Given the description of an element on the screen output the (x, y) to click on. 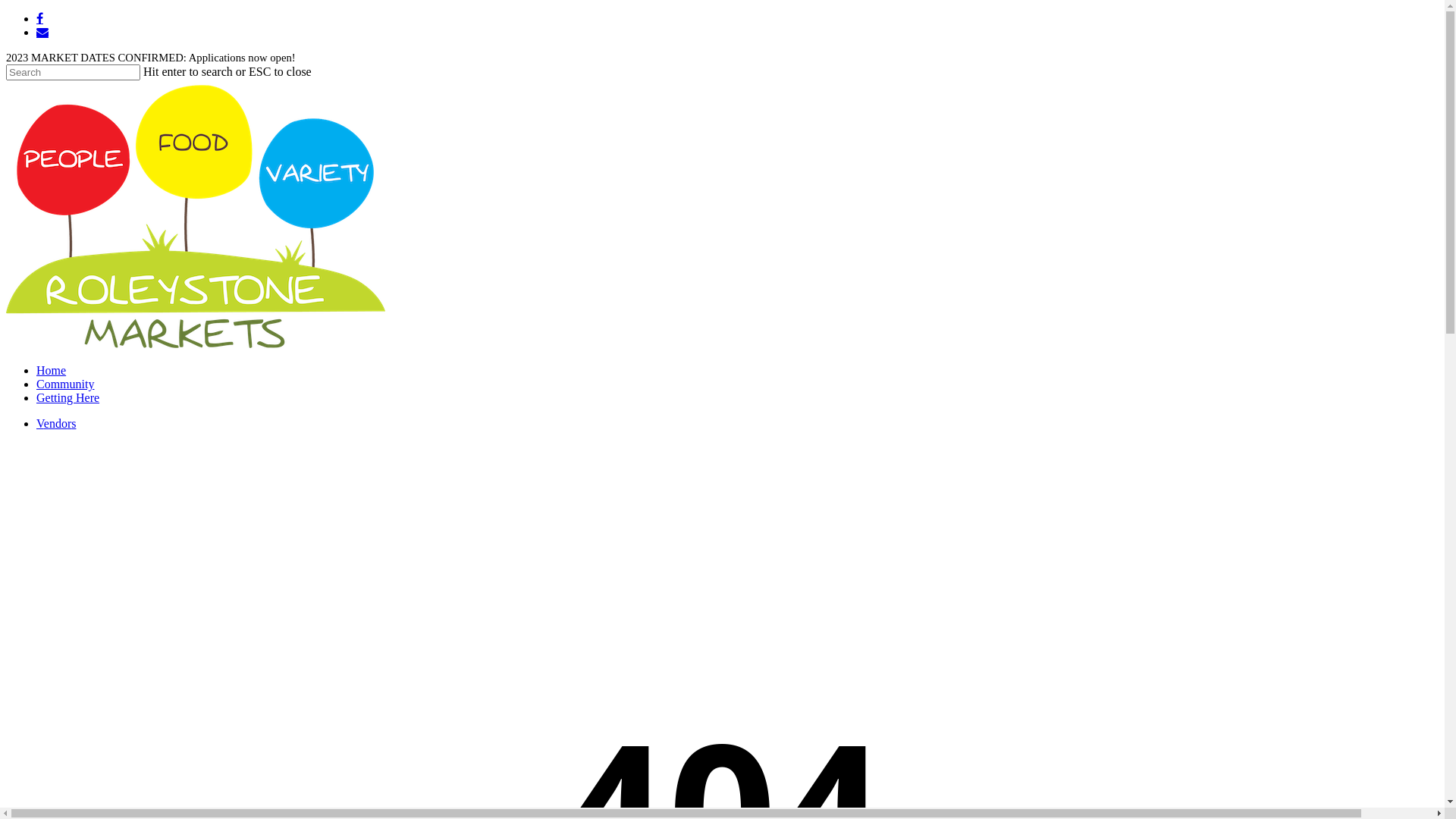
email Element type: text (42, 31)
Skip to main content Element type: text (5, 11)
facebook Element type: text (39, 18)
Getting Here Element type: text (67, 397)
Community Element type: text (65, 383)
Home Element type: text (50, 370)
Vendors Element type: text (55, 423)
